Given the description of an element on the screen output the (x, y) to click on. 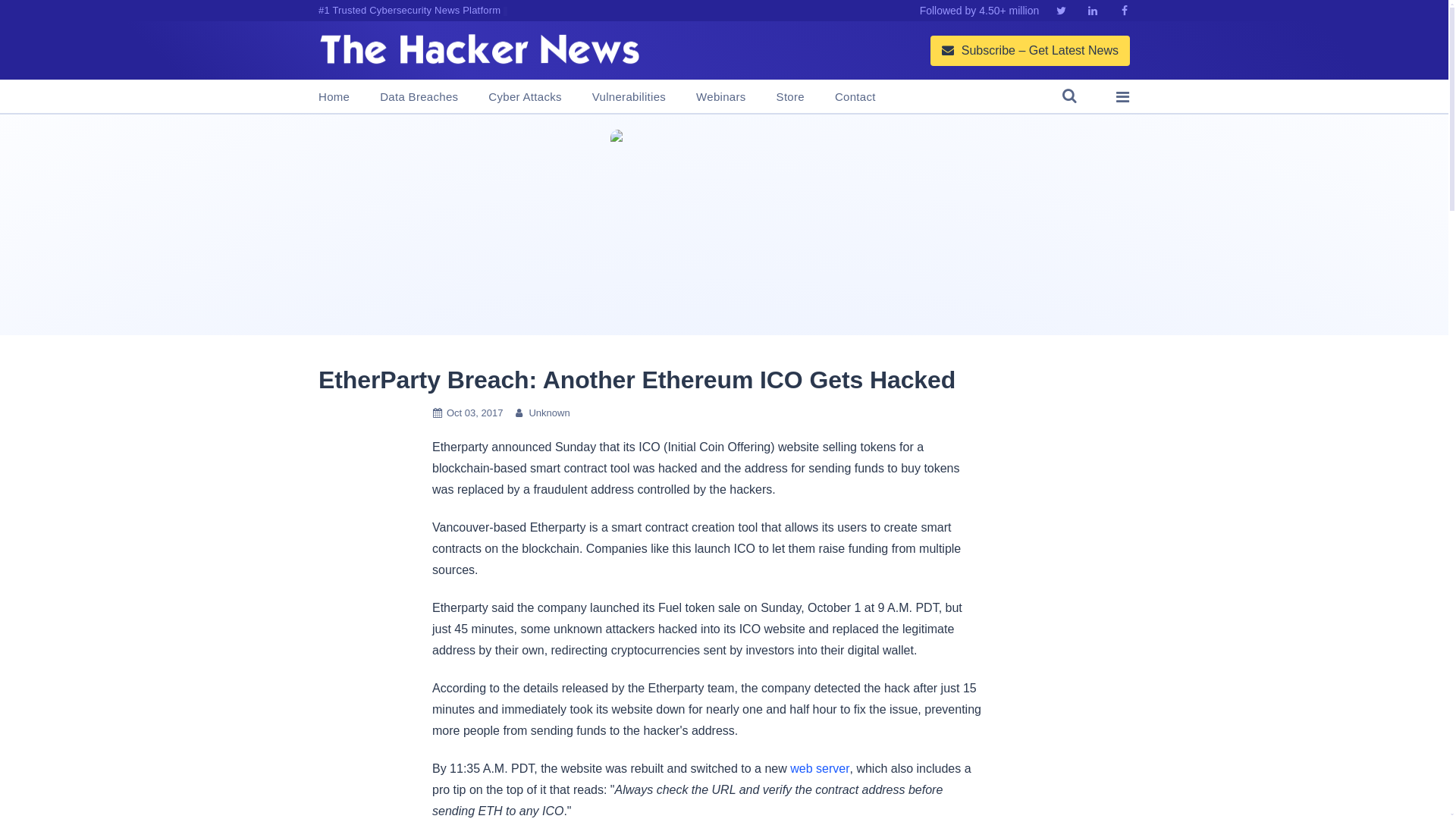
Vulnerabilities (628, 96)
Webinars (720, 96)
web server (819, 768)
Data Breaches (419, 96)
Home (333, 96)
EtherParty Breach: Another Ethereum ICO Gets Hacked (636, 379)
Contact (855, 96)
Cyber Attacks (523, 96)
